Given the description of an element on the screen output the (x, y) to click on. 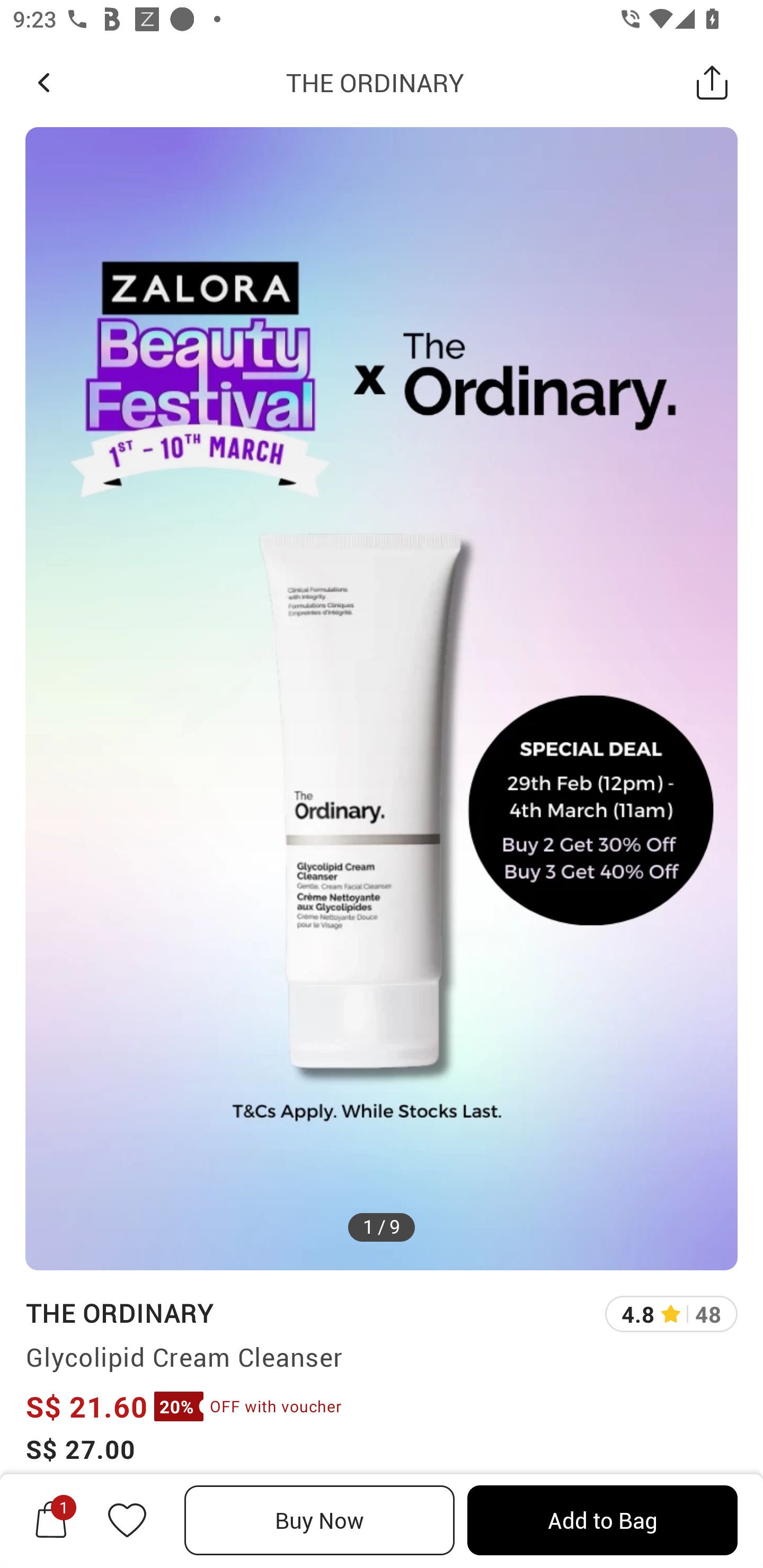
THE ORDINARY (375, 82)
Share this Product (711, 82)
THE ORDINARY (119, 1312)
4.8 48 (671, 1313)
Buy Now (319, 1519)
Add to Bag (601, 1519)
1 (50, 1520)
